Given the description of an element on the screen output the (x, y) to click on. 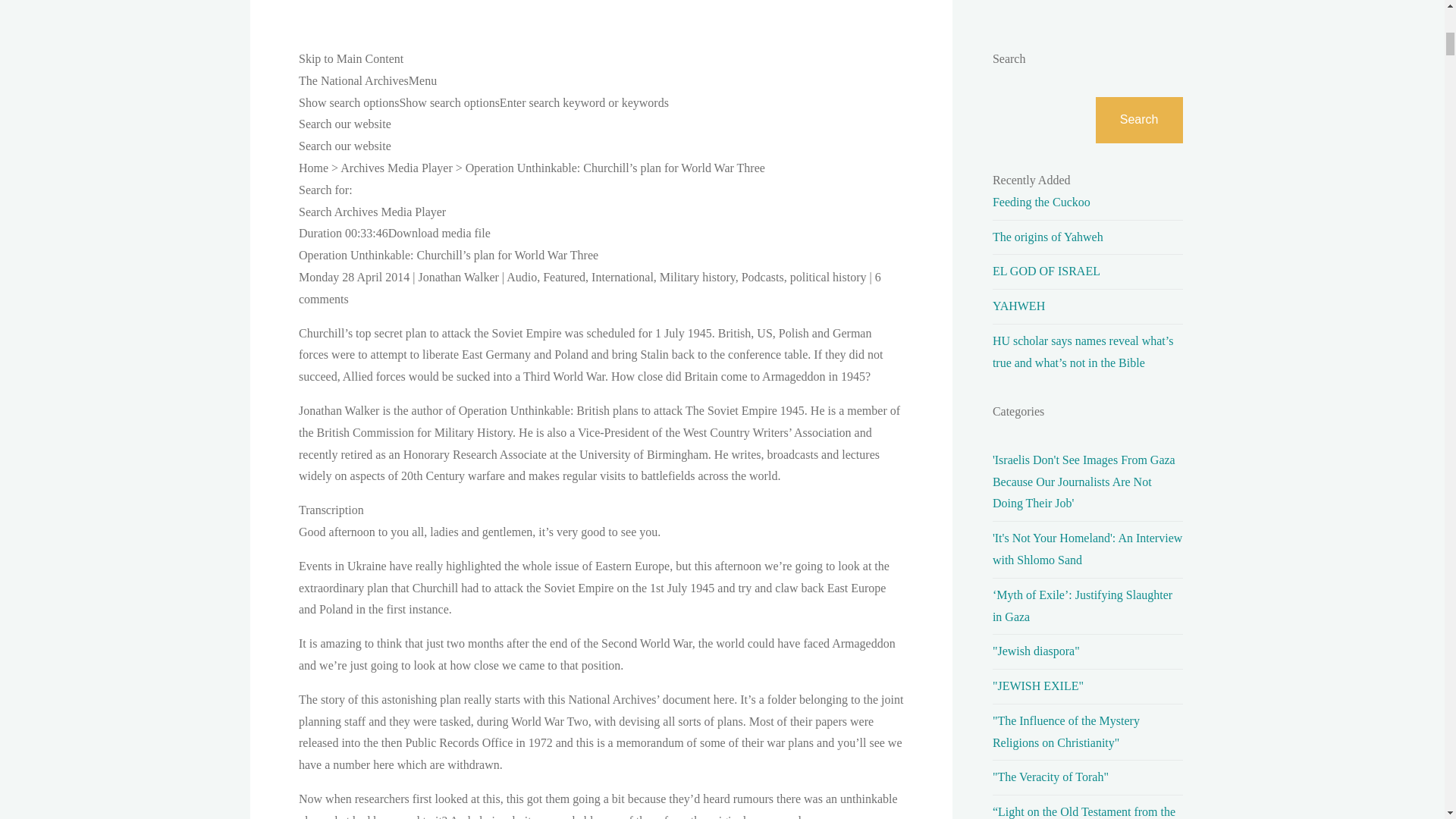
"JEWISH EXILE" (1037, 685)
Search (1139, 120)
Feeding the Cuckoo (1041, 201)
"The Influence of the Mystery Religions on Christianity" (1066, 731)
'It's Not Your Homeland': An Interview with Shlomo Sand (1087, 548)
YAHWEH (1018, 305)
"Jewish diaspora" (1036, 650)
"The Veracity of Torah" (1050, 776)
The origins of Yahweh (1047, 236)
EL GOD OF ISRAEL (1046, 270)
